Given the description of an element on the screen output the (x, y) to click on. 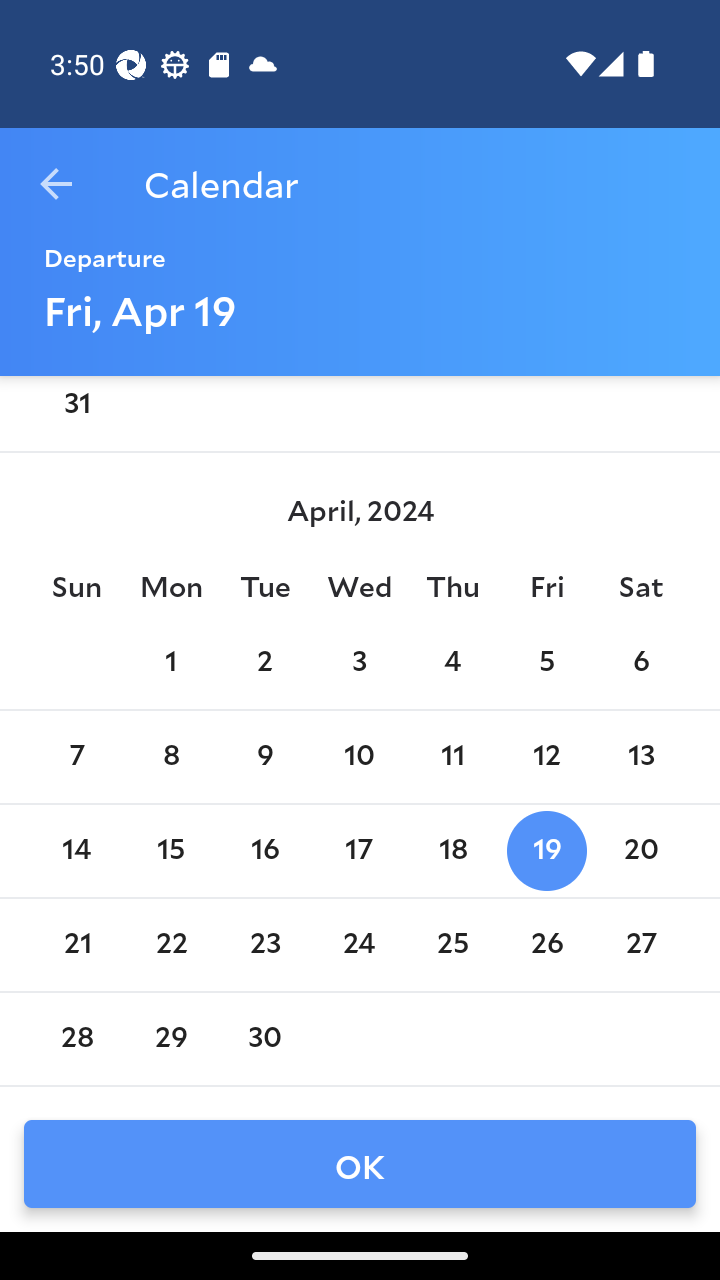
Navigate up (56, 184)
31 (76, 410)
1 (170, 662)
2 (264, 662)
3 (358, 662)
4 (453, 662)
5 (546, 662)
6 (641, 662)
7 (76, 756)
8 (170, 756)
9 (264, 756)
10 (358, 756)
11 (453, 756)
12 (546, 756)
13 (641, 756)
14 (76, 850)
15 (170, 850)
16 (264, 850)
17 (358, 850)
18 (453, 850)
19 (546, 850)
20 (641, 850)
21 (76, 944)
22 (170, 944)
23 (264, 944)
24 (358, 944)
25 (453, 944)
26 (546, 944)
27 (641, 944)
28 (76, 1038)
29 (170, 1038)
30 (264, 1038)
OK (359, 1164)
